Given the description of an element on the screen output the (x, y) to click on. 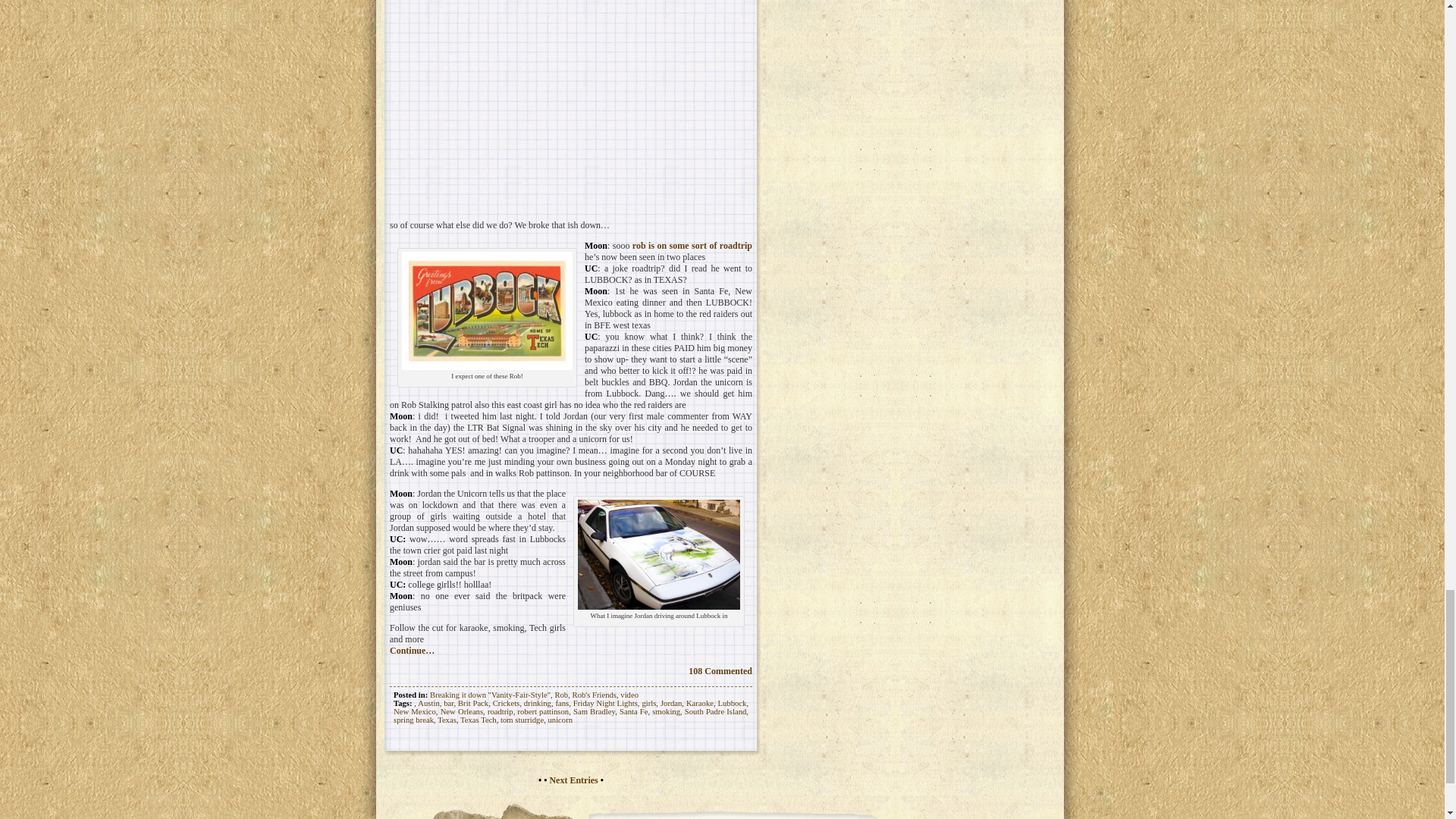
LubbockPostcard (486, 310)
unicorncar (658, 554)
